Given the description of an element on the screen output the (x, y) to click on. 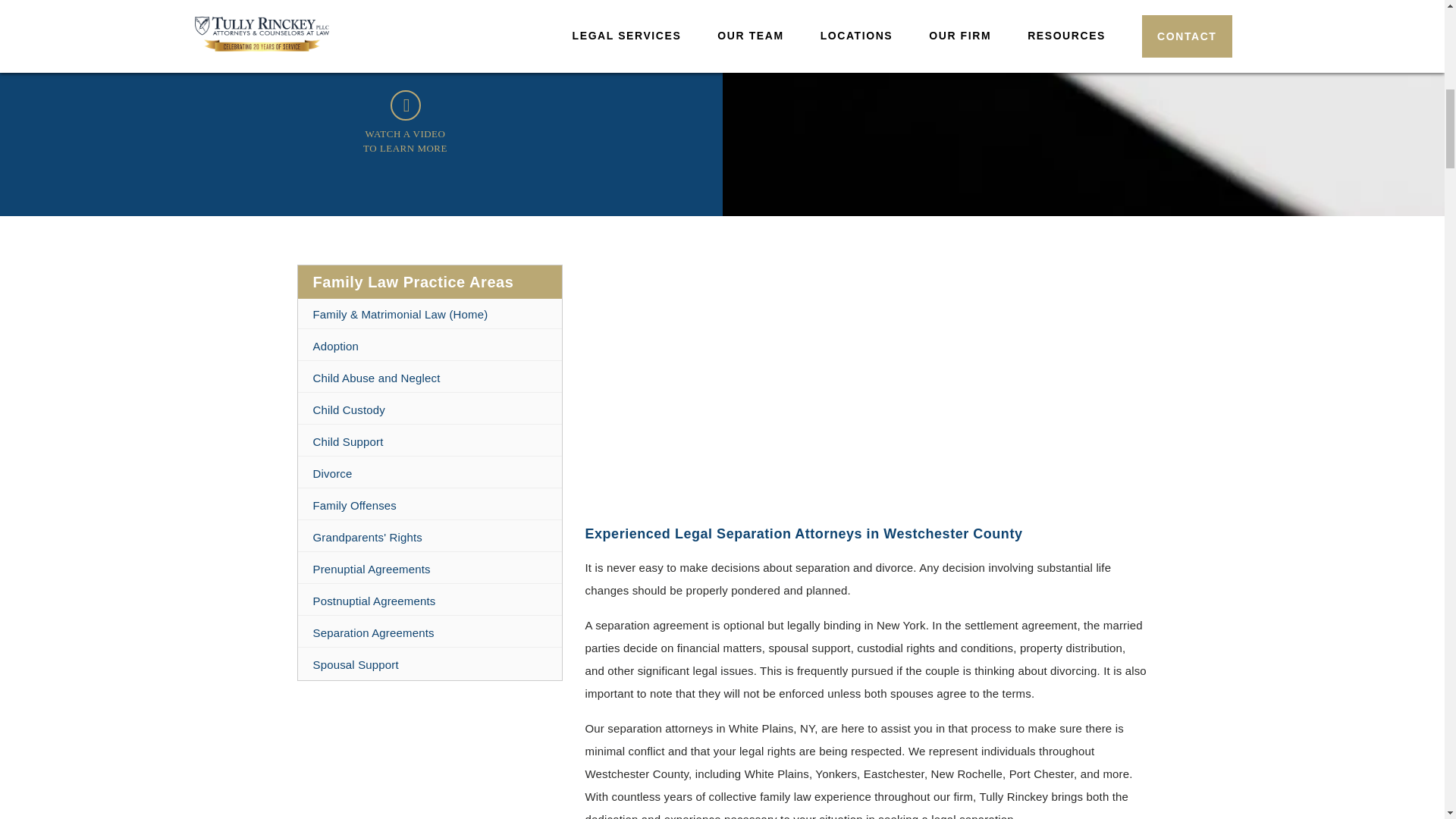
YouTube video player (865, 383)
